Given the description of an element on the screen output the (x, y) to click on. 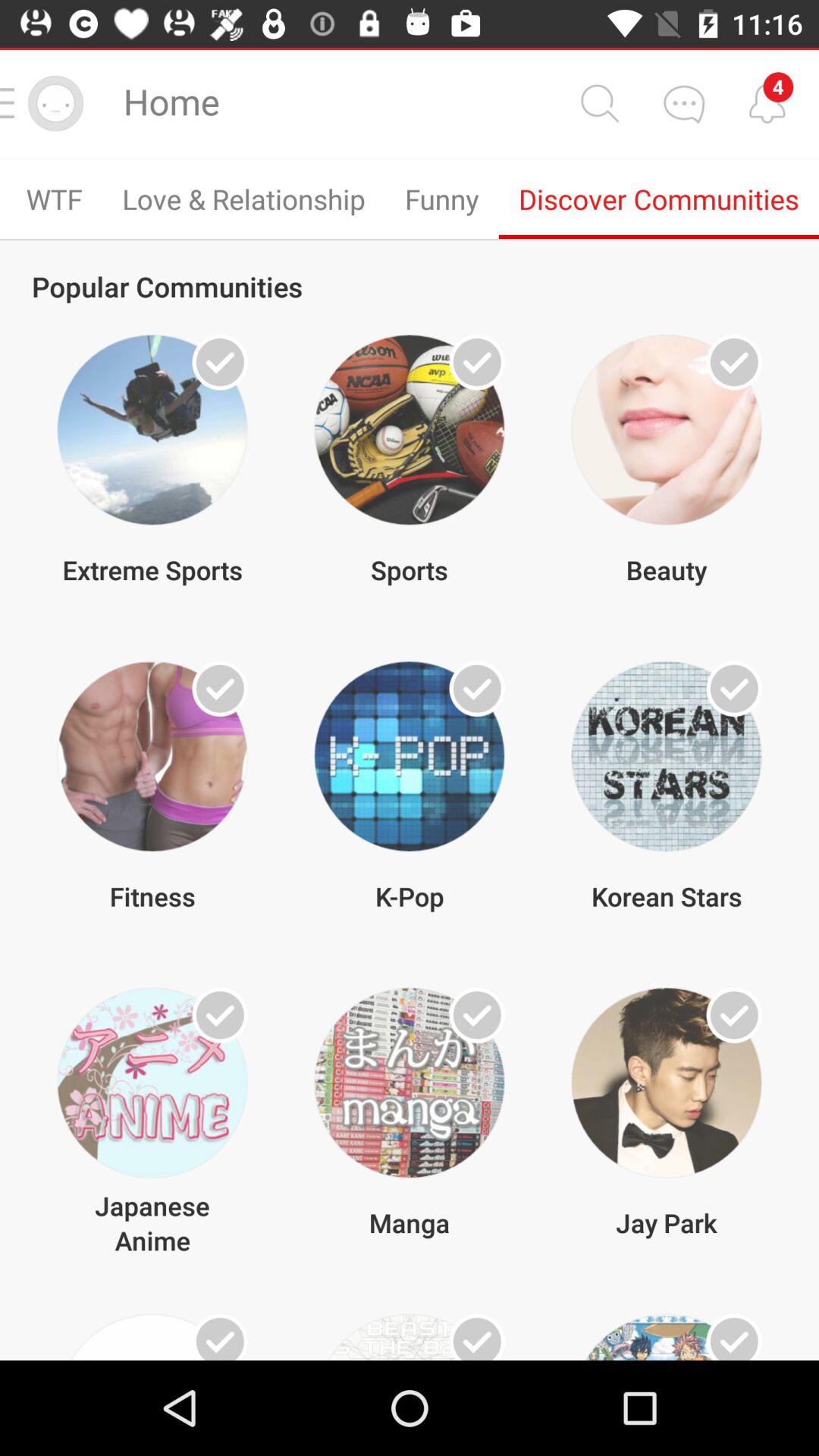
toggle this selection (219, 1336)
